Given the description of an element on the screen output the (x, y) to click on. 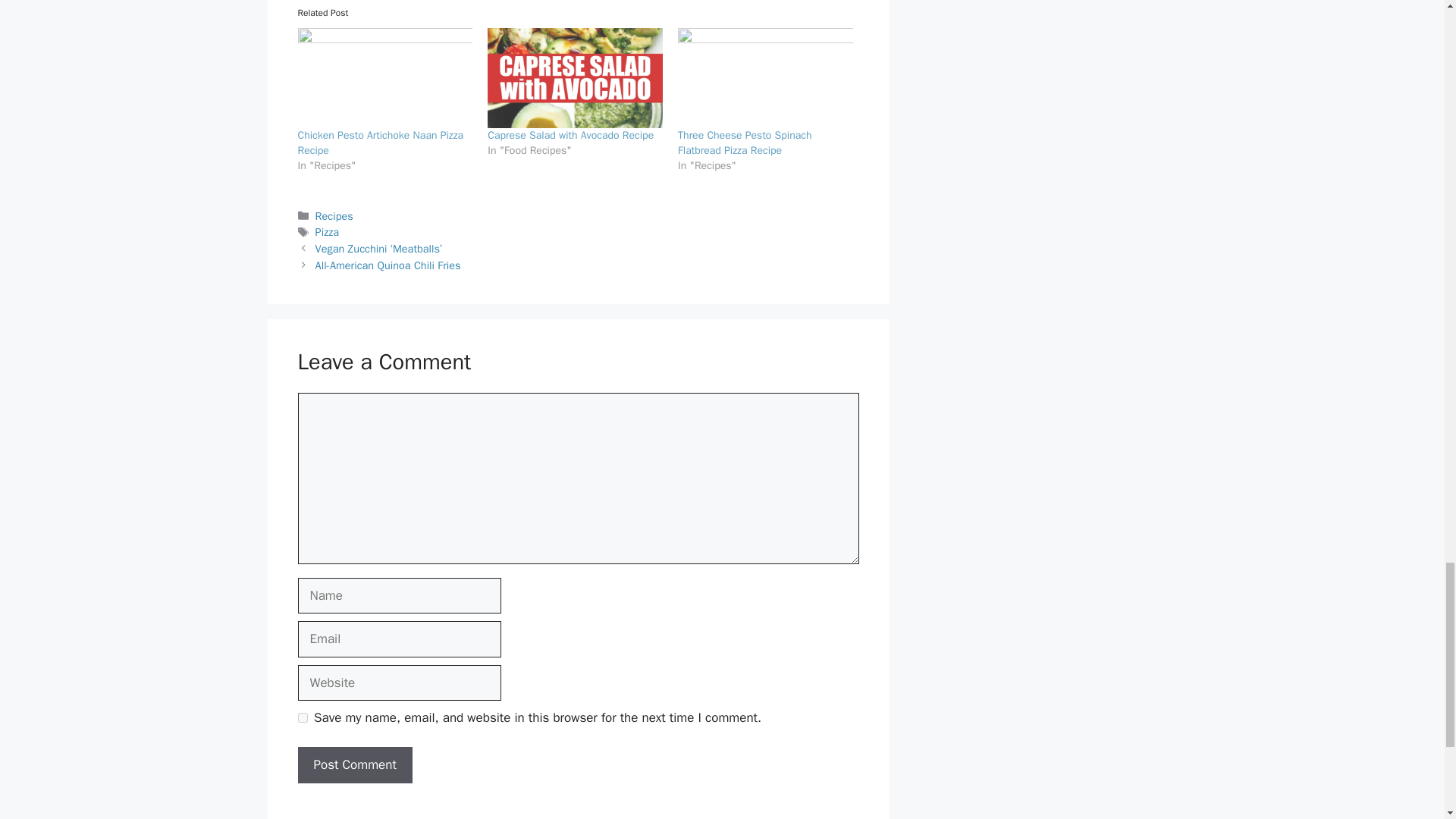
Post Comment (354, 764)
Recipes (334, 215)
Three Cheese Pesto Spinach Flatbread Pizza Recipe (744, 142)
Caprese Salad with Avocado Recipe (574, 77)
Pizza (327, 232)
Caprese Salad with Avocado Recipe (570, 134)
Caprese Salad with Avocado Recipe (570, 134)
Chicken Pesto Artichoke Naan Pizza Recipe (380, 142)
yes (302, 717)
Chicken Pesto Artichoke Naan Pizza Recipe (384, 77)
Three Cheese Pesto Spinach Flatbread Pizza Recipe (744, 142)
All-American Quinoa Chili Fries (388, 264)
Chicken Pesto Artichoke Naan Pizza Recipe (380, 142)
Three Cheese Pesto Spinach Flatbread Pizza Recipe (765, 77)
Post Comment (354, 764)
